Given the description of an element on the screen output the (x, y) to click on. 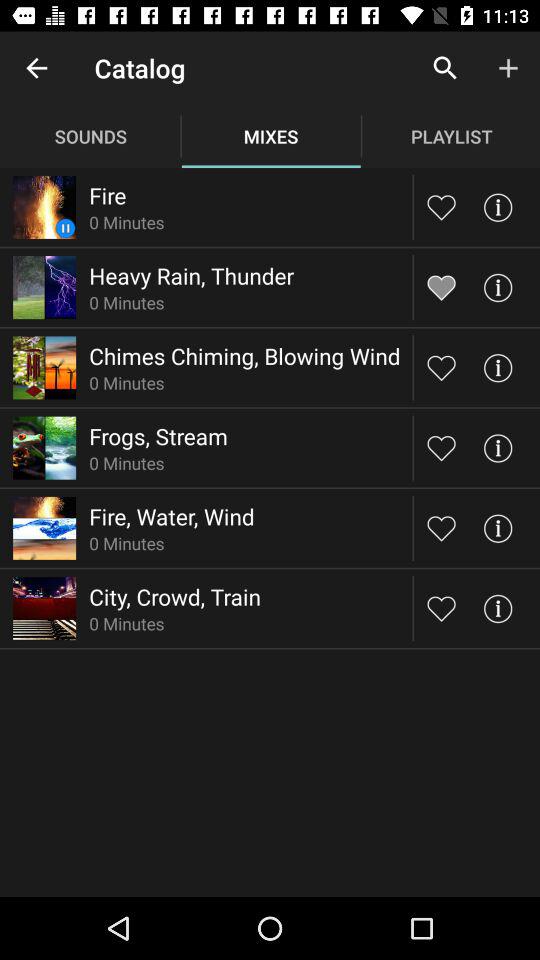
save as favorite (441, 287)
